Given the description of an element on the screen output the (x, y) to click on. 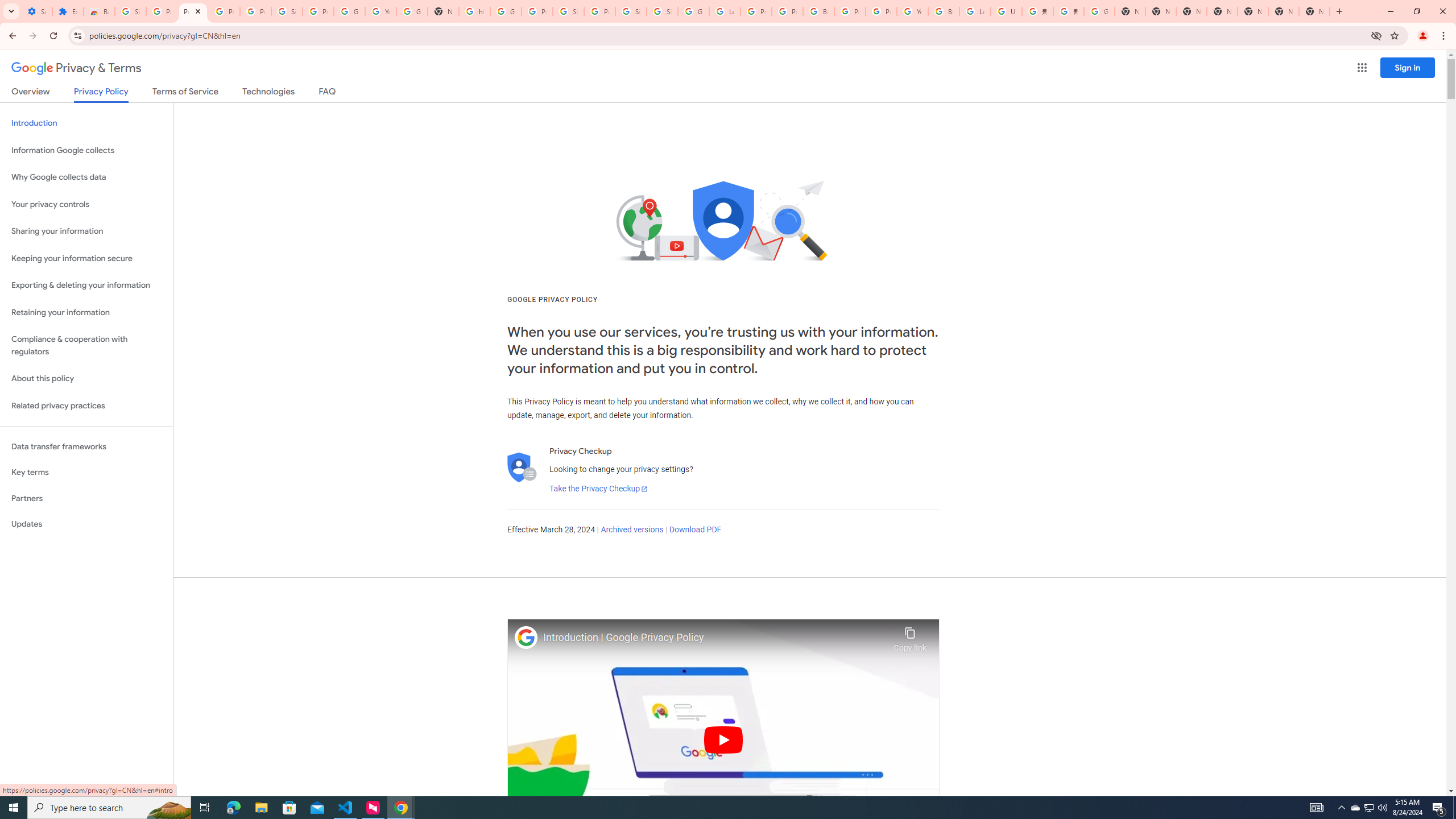
Take the Privacy Checkup (597, 488)
Privacy Help Center - Policies Help (787, 11)
Sign in - Google Accounts (631, 11)
Keeping your information secure (86, 258)
Technologies (268, 93)
Download PDF (695, 529)
Privacy & Terms (76, 68)
